Given the description of an element on the screen output the (x, y) to click on. 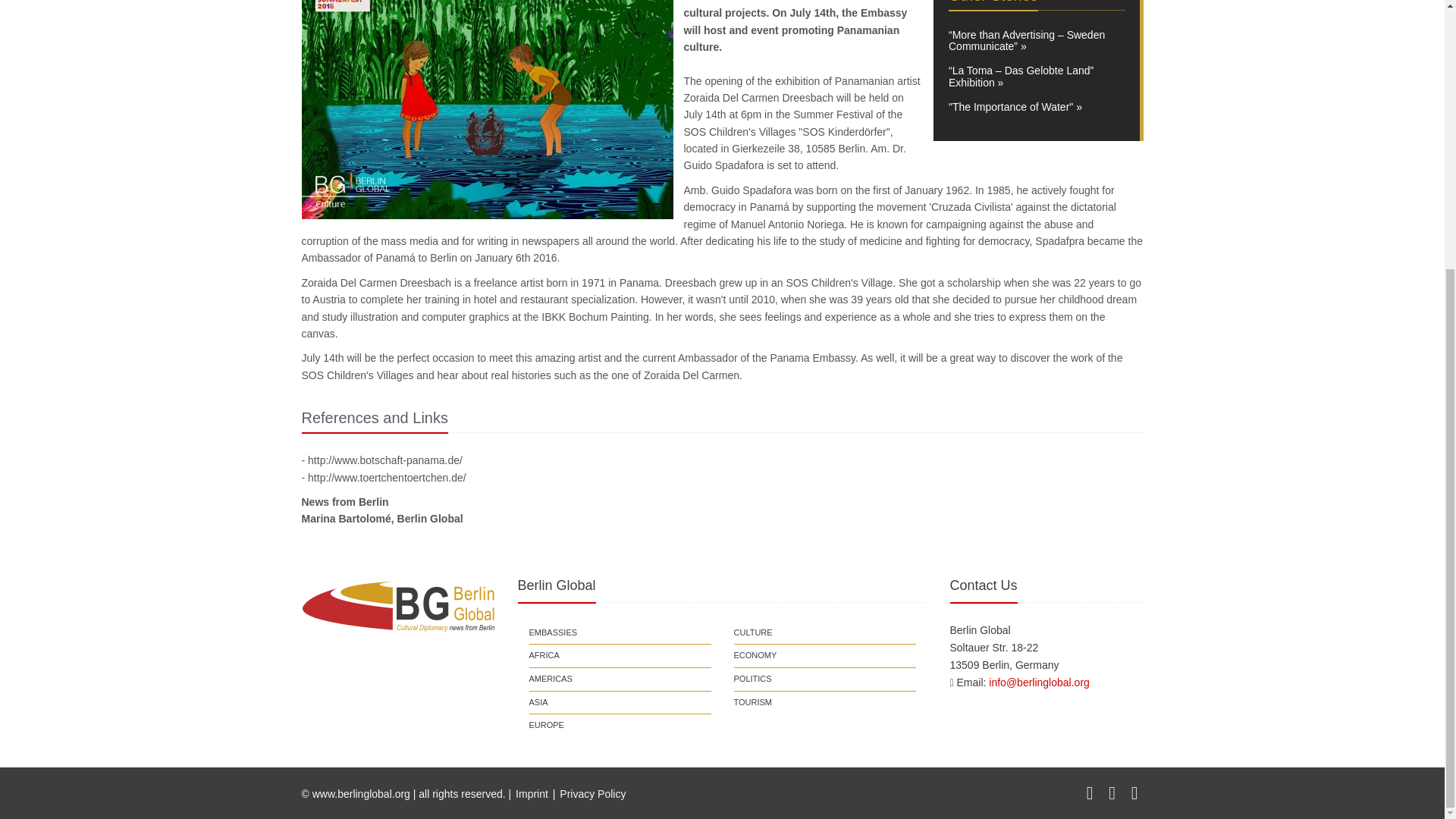
CULTURE (753, 632)
EUROPE (546, 725)
POLITICS (752, 679)
ECONOMY (755, 655)
AFRICA (544, 655)
Imprint (531, 793)
AMERICAS (550, 679)
Privacy Policy (592, 793)
TOURISM (753, 702)
EMBASSIES (553, 632)
